Given the description of an element on the screen output the (x, y) to click on. 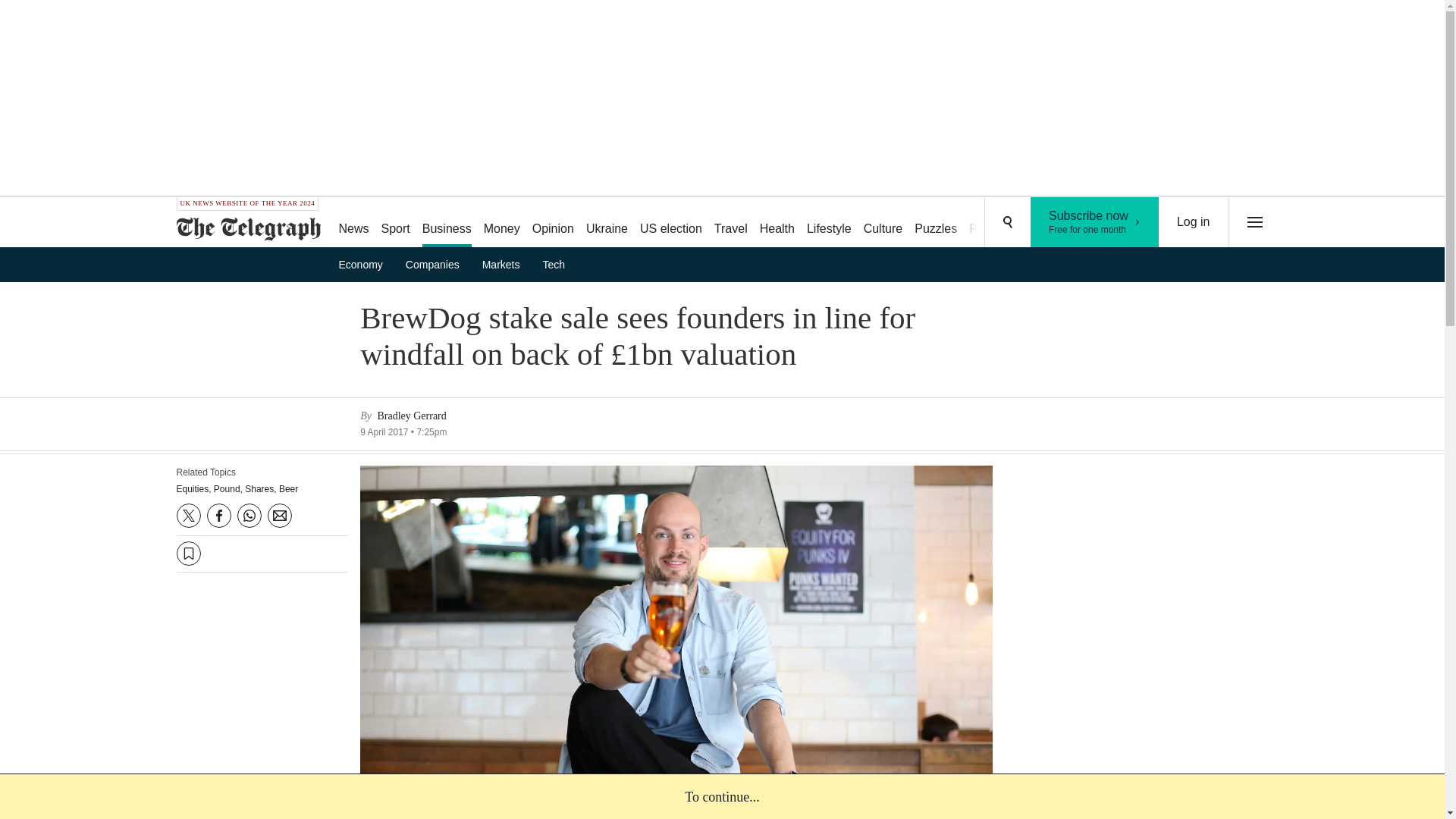
Log in (1193, 222)
US election (670, 223)
Culture (882, 223)
Economy (1094, 222)
Companies (364, 264)
Lifestyle (437, 264)
Ukraine (828, 223)
Podcasts (606, 223)
Business (993, 223)
Health (446, 223)
Money (777, 223)
Puzzles (501, 223)
Opinion (935, 223)
Travel (552, 223)
